Given the description of an element on the screen output the (x, y) to click on. 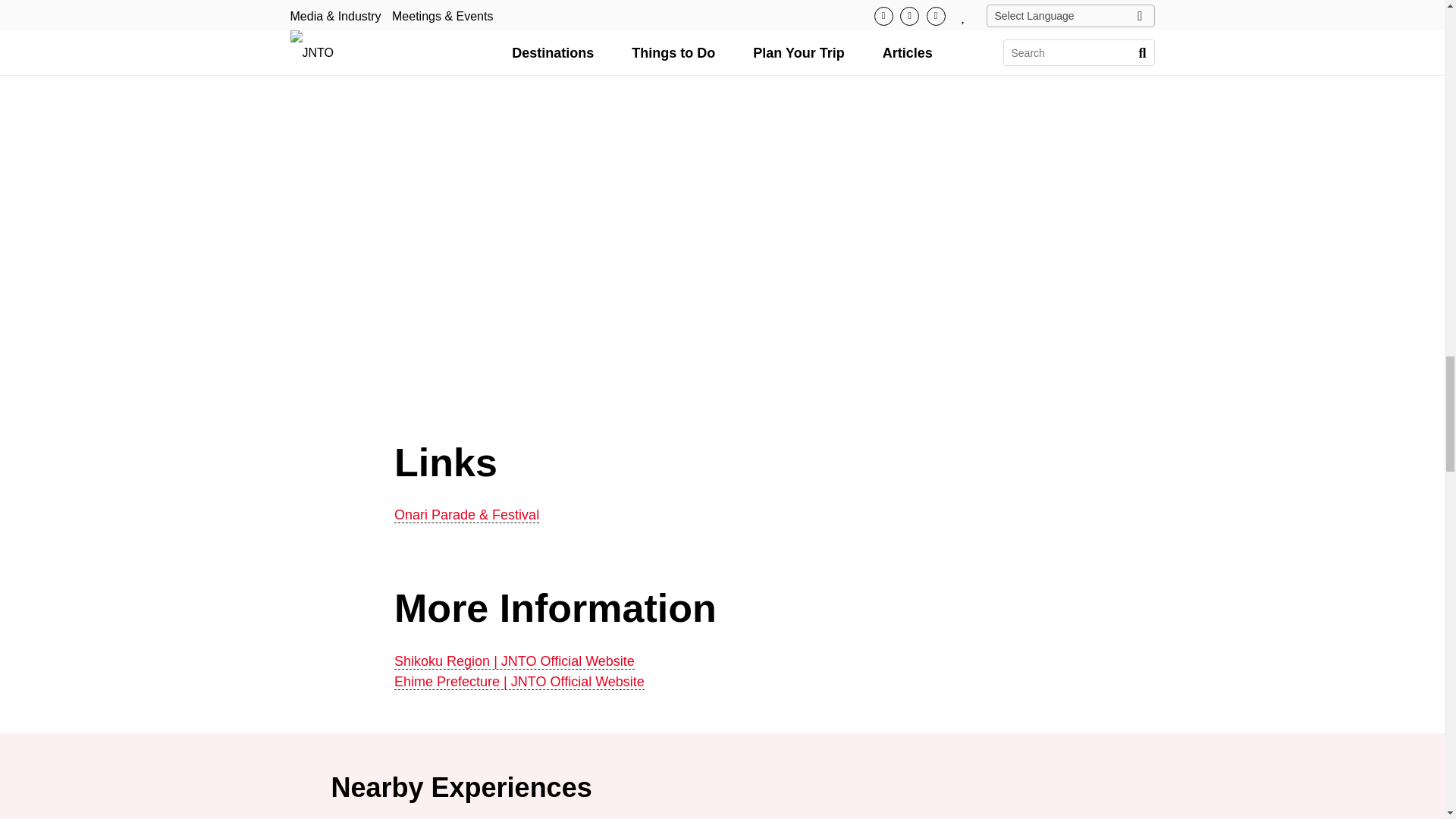
Ozu Onari Parade (610, 226)
